Given the description of an element on the screen output the (x, y) to click on. 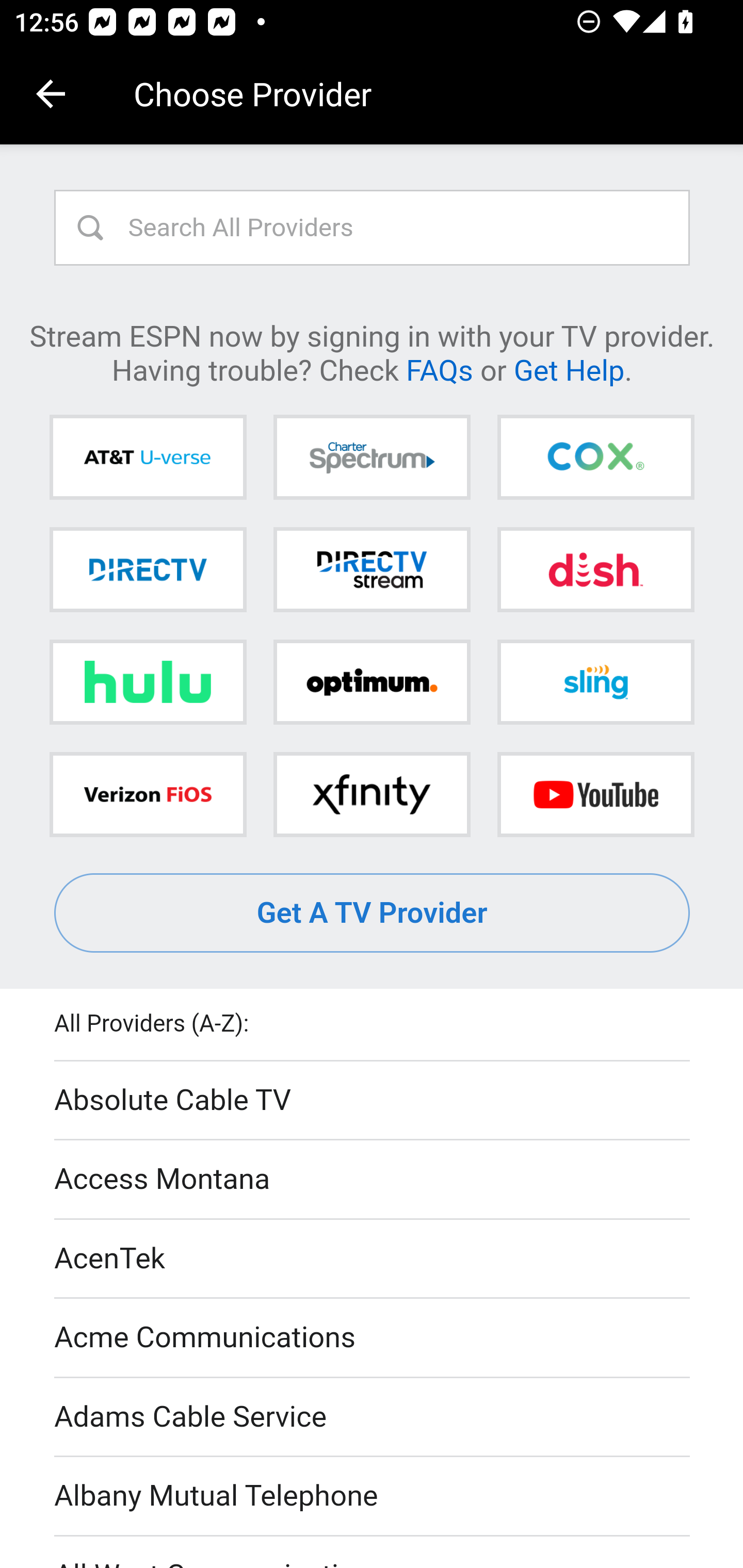
Navigate up (50, 93)
FAQs (438, 369)
Get Help (569, 369)
AT&T U-verse (147, 457)
Charter Spectrum (371, 457)
Cox (595, 457)
DIRECTV (147, 568)
DIRECTV STREAM (371, 568)
DISH (595, 568)
Hulu (147, 681)
Optimum (371, 681)
Sling TV (595, 681)
Verizon FiOS (147, 793)
Xfinity (371, 793)
YouTube TV (595, 793)
Get A TV Provider (372, 912)
Absolute Cable TV (372, 1100)
Access Montana (372, 1178)
AcenTek (372, 1258)
Acme Communications (372, 1338)
Adams Cable Service (372, 1417)
Albany Mutual Telephone (372, 1497)
